Given the description of an element on the screen output the (x, y) to click on. 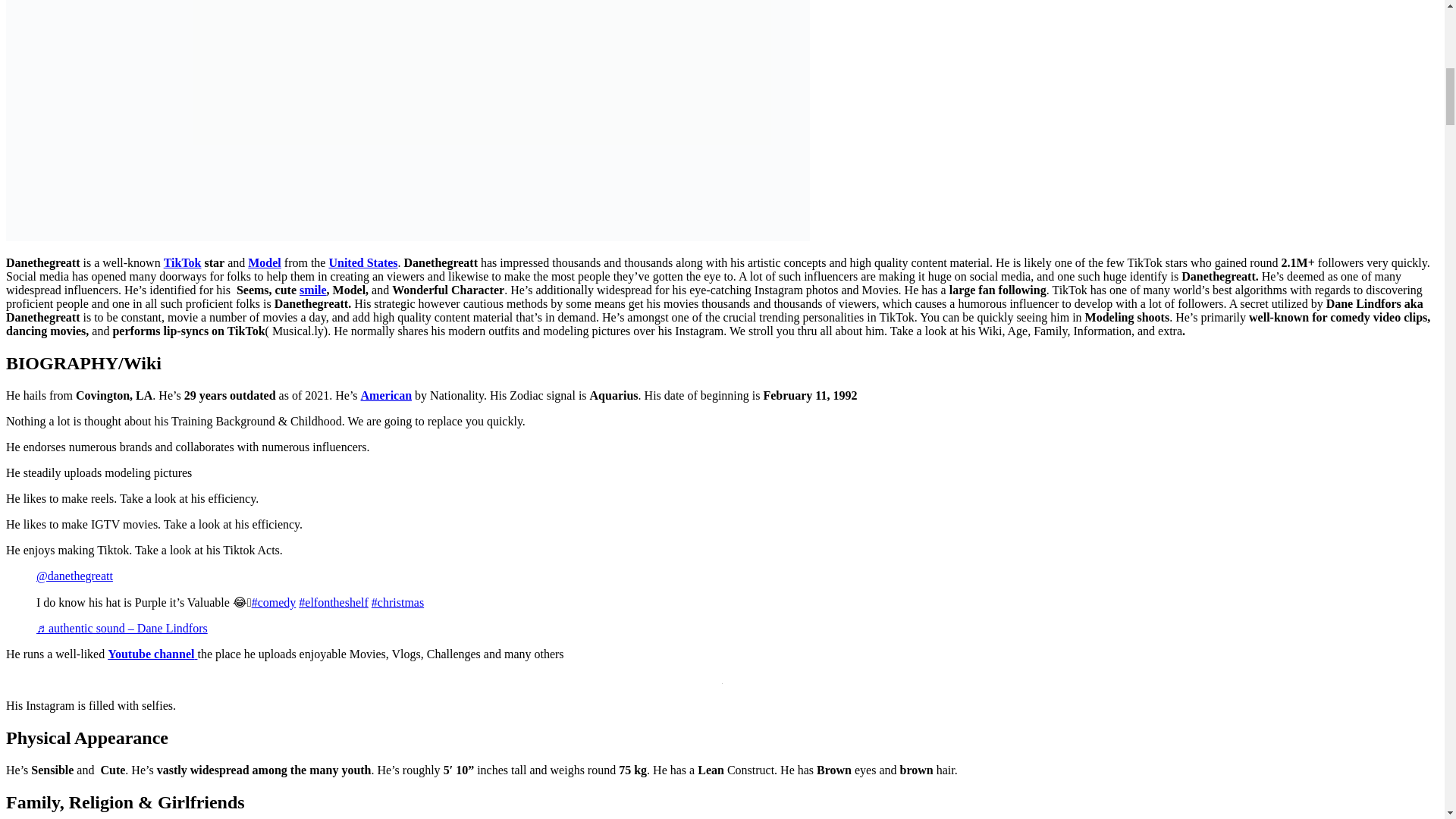
comedy (274, 602)
Max Ehrich Wiki (363, 262)
Youtube channel (151, 653)
Laura Gaspar Wiki (182, 262)
elfontheshelf (333, 602)
Joanna Page Wiki (312, 289)
United States (363, 262)
American (386, 395)
Model (264, 262)
smile (312, 289)
